Given the description of an element on the screen output the (x, y) to click on. 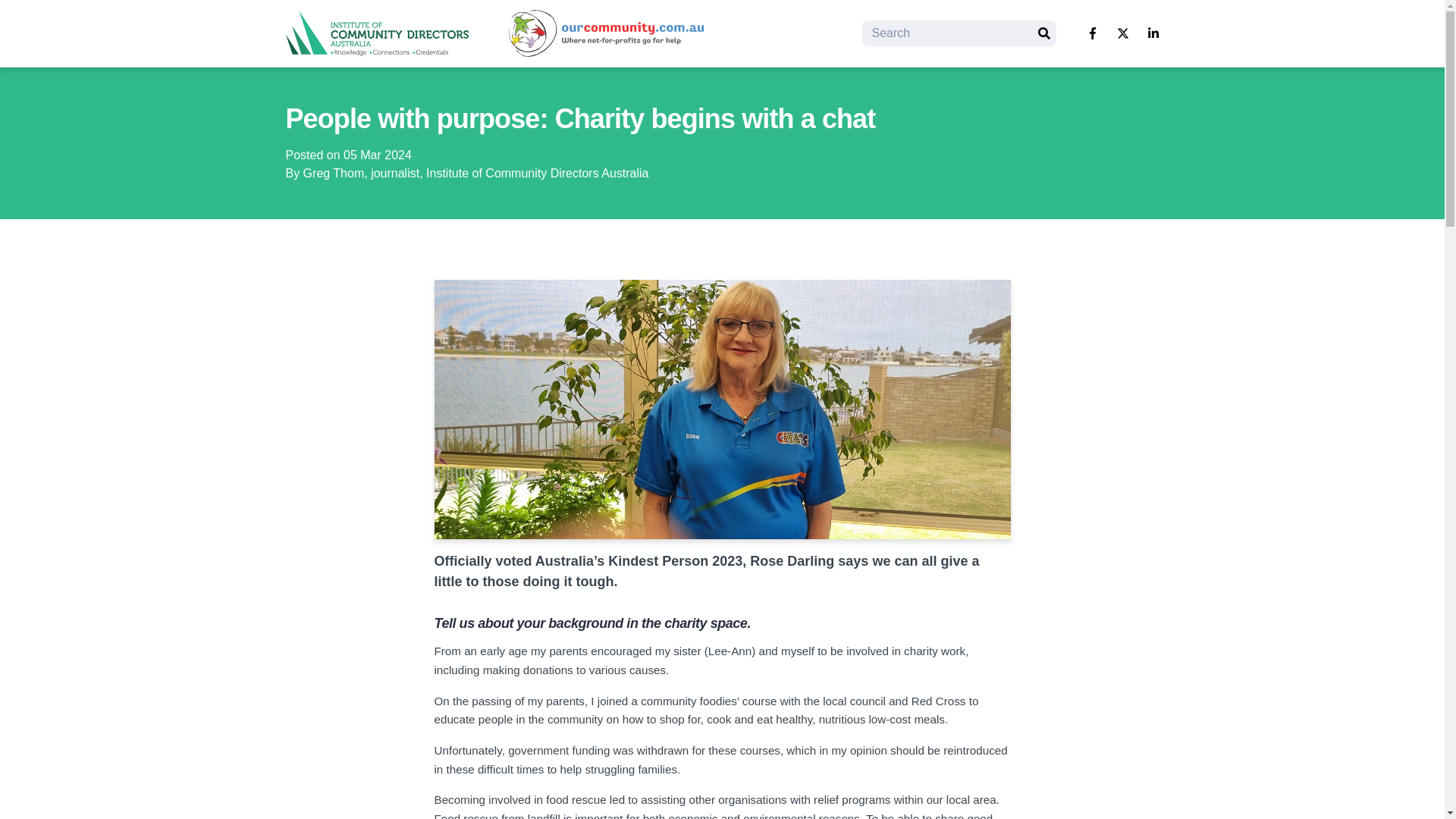
Follow us on Twitter (1122, 33)
Search (1042, 32)
Like us on Facebook (1091, 33)
Follow us on linkedIn (1152, 33)
